Given the description of an element on the screen output the (x, y) to click on. 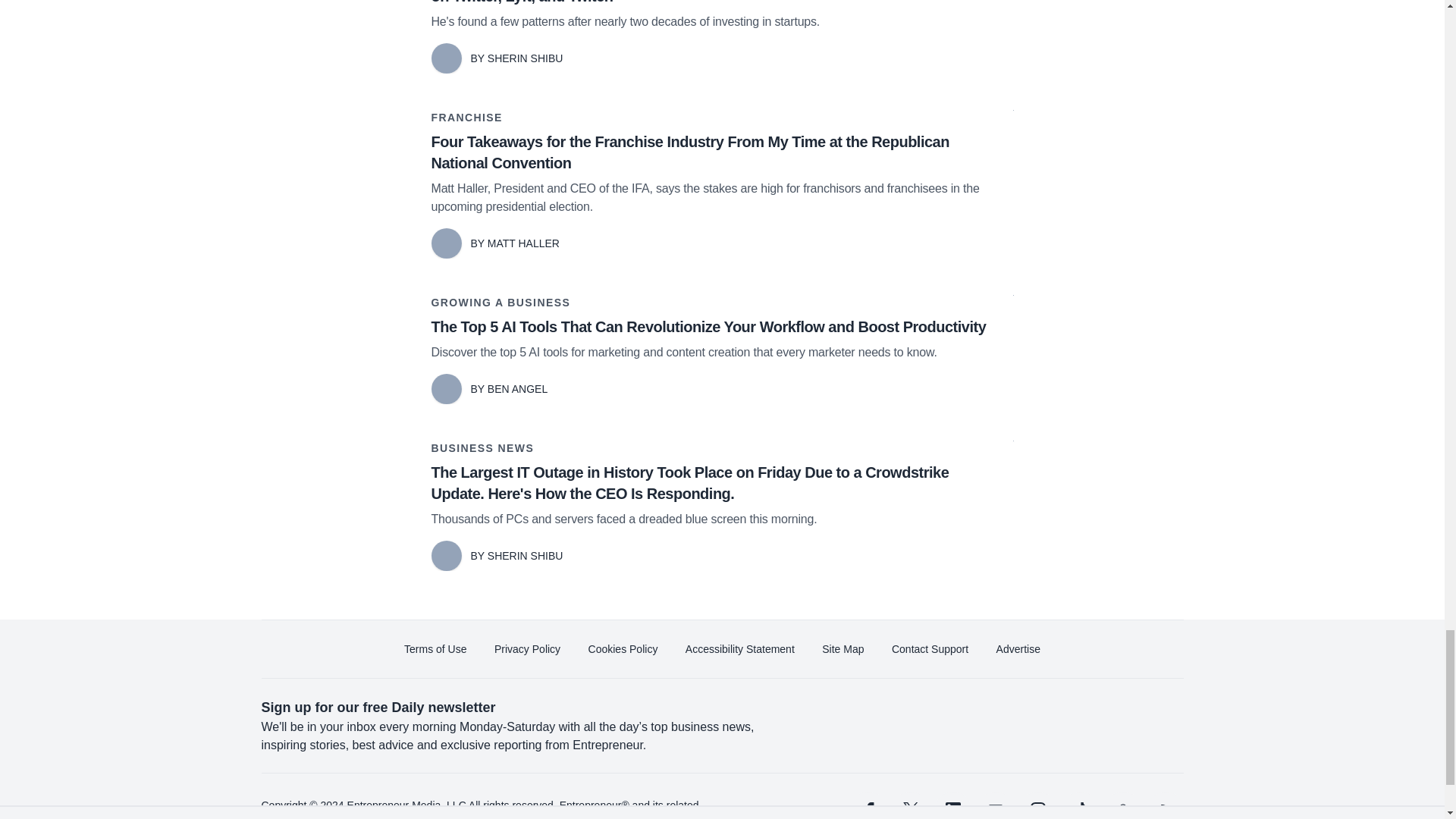
twitter (909, 805)
tiktok (1079, 805)
linkedin (952, 805)
snapchat (1121, 805)
youtube (994, 805)
instagram (1037, 805)
facebook (866, 805)
